Given the description of an element on the screen output the (x, y) to click on. 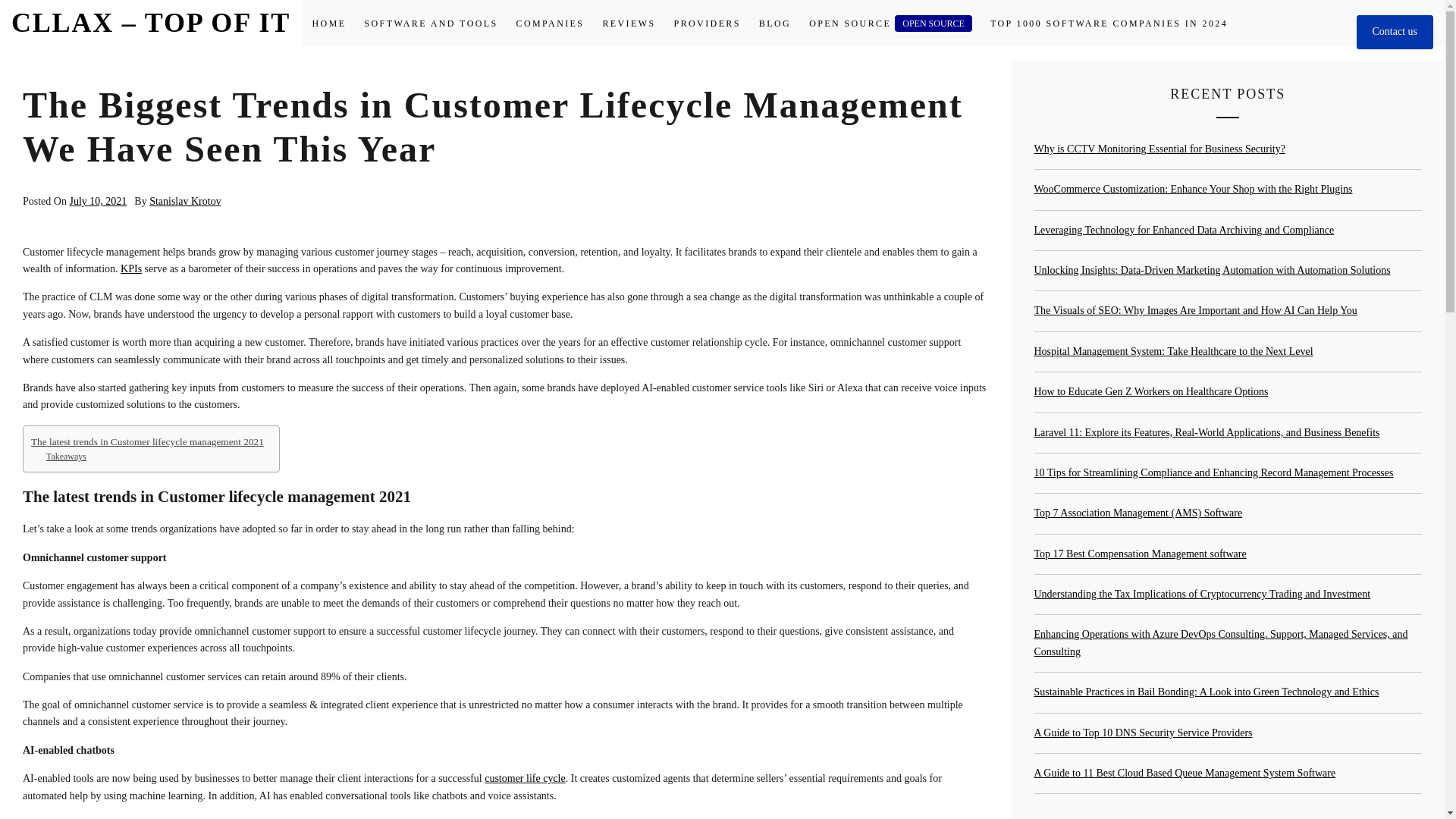
BLOG (774, 23)
Contact us (1393, 31)
COMPANIES (550, 23)
customer life cycle (525, 778)
OPEN SOURCEOPEN SOURCE (890, 23)
REVIEWS (627, 23)
How to Educate Gen Z Workers on Healthcare Options (1150, 391)
KPIs (130, 268)
Search (797, 407)
A Guide to Top 10 DNS Security Service Providers (1142, 732)
July 10, 2021 (97, 201)
